Given the description of an element on the screen output the (x, y) to click on. 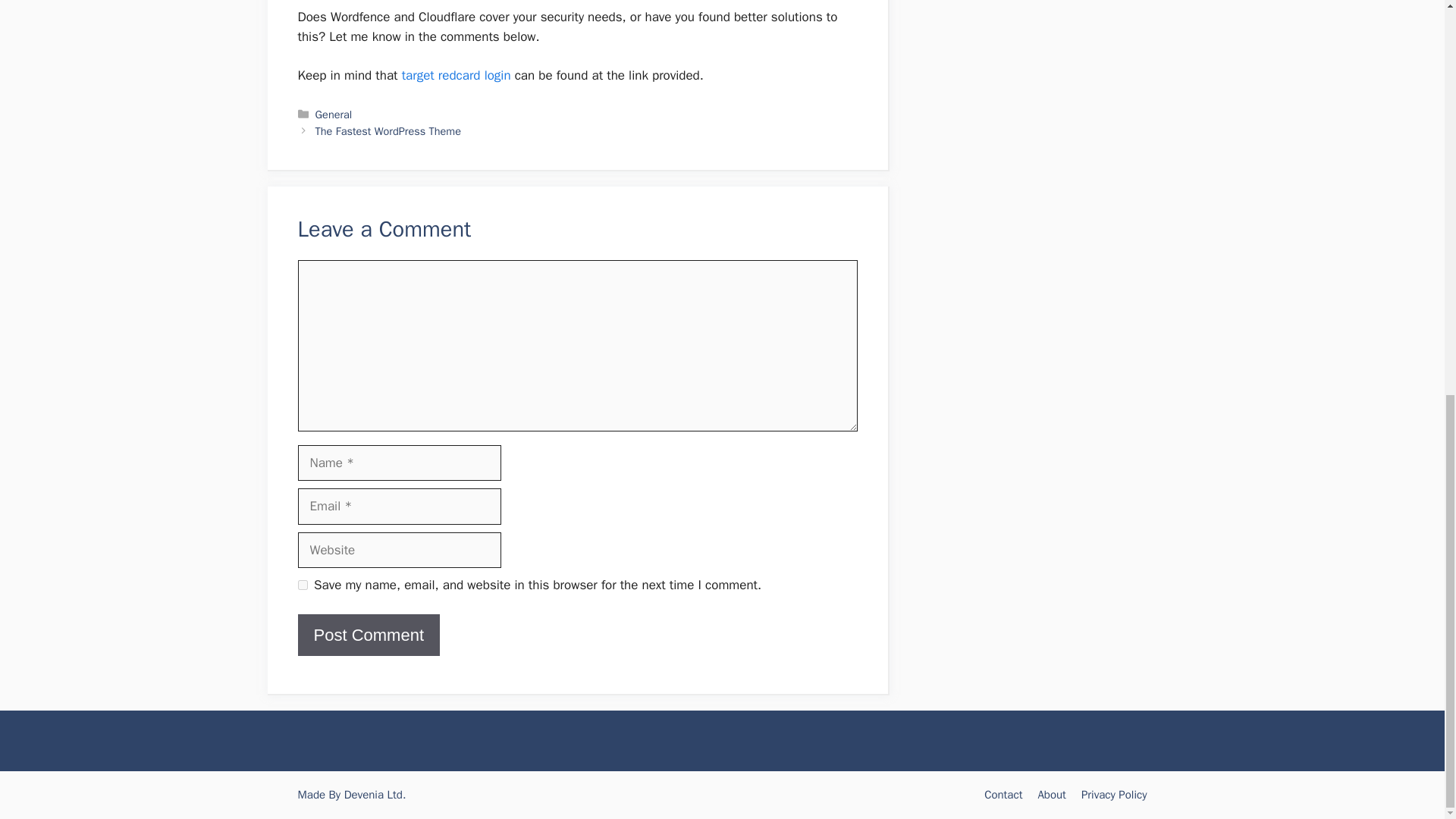
General (333, 114)
Contact (1003, 794)
yes (302, 584)
target redcard login (456, 75)
Privacy Policy (1114, 794)
About (1050, 794)
Post Comment (368, 635)
Post Comment (368, 635)
The Fastest WordPress Theme (388, 131)
